Given the description of an element on the screen output the (x, y) to click on. 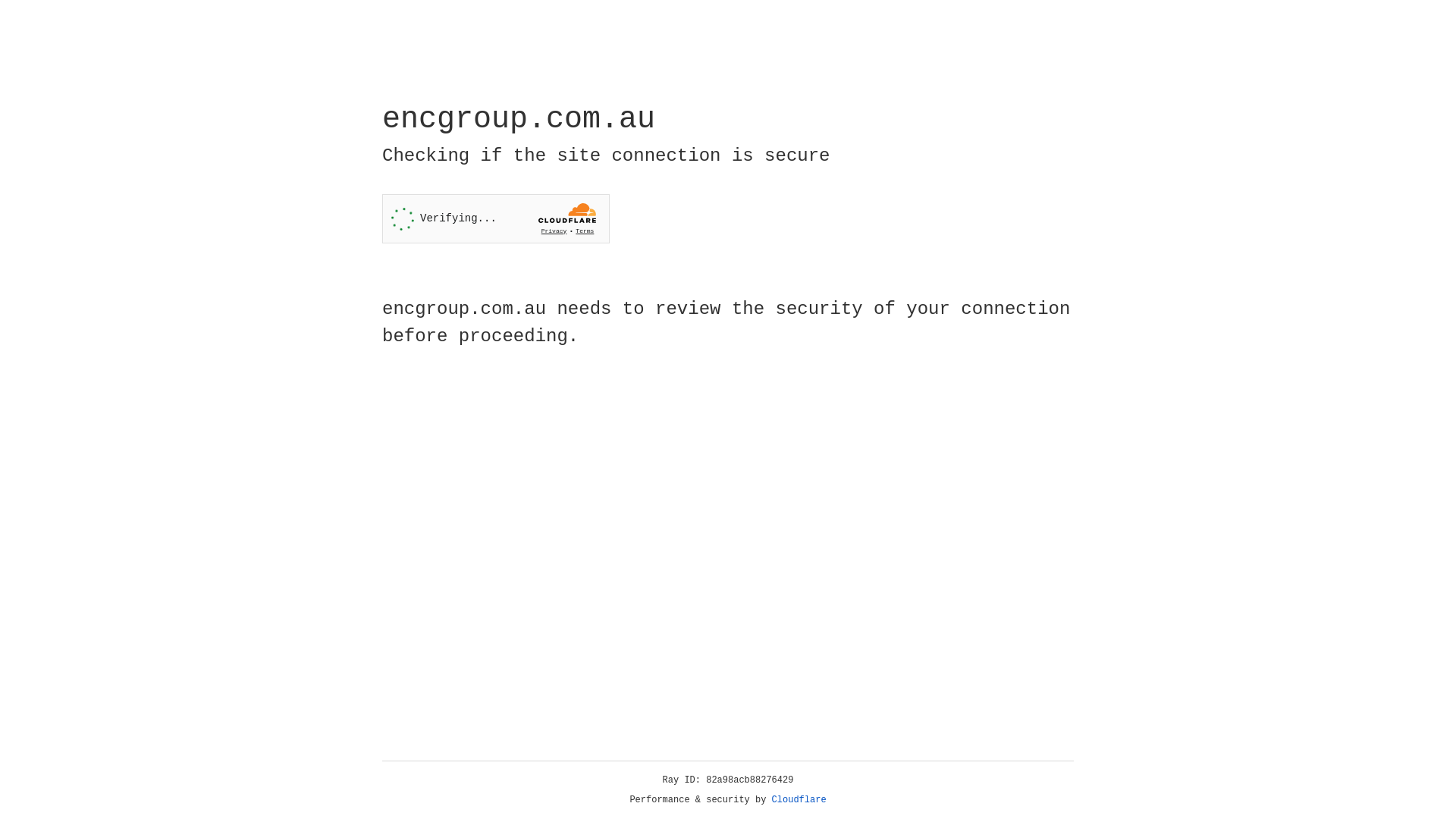
Cloudflare Element type: text (798, 799)
Widget containing a Cloudflare security challenge Element type: hover (495, 218)
